Given the description of an element on the screen output the (x, y) to click on. 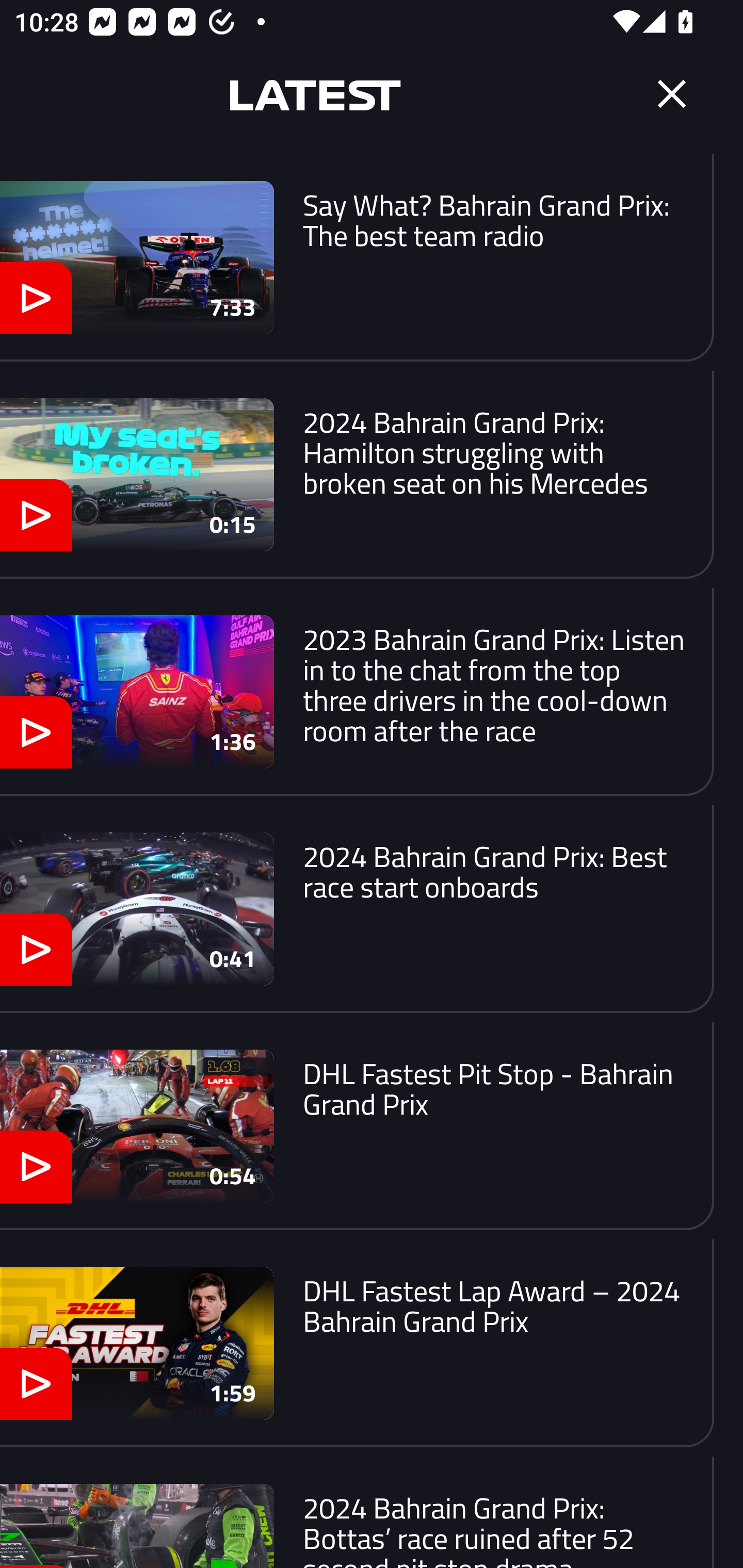
Close (671, 93)
Video - Icon (36, 297)
Video - Icon (36, 515)
Video - Icon (36, 732)
Video - Icon (36, 950)
Video - Icon (36, 1166)
Video - Icon (36, 1384)
